Given the description of an element on the screen output the (x, y) to click on. 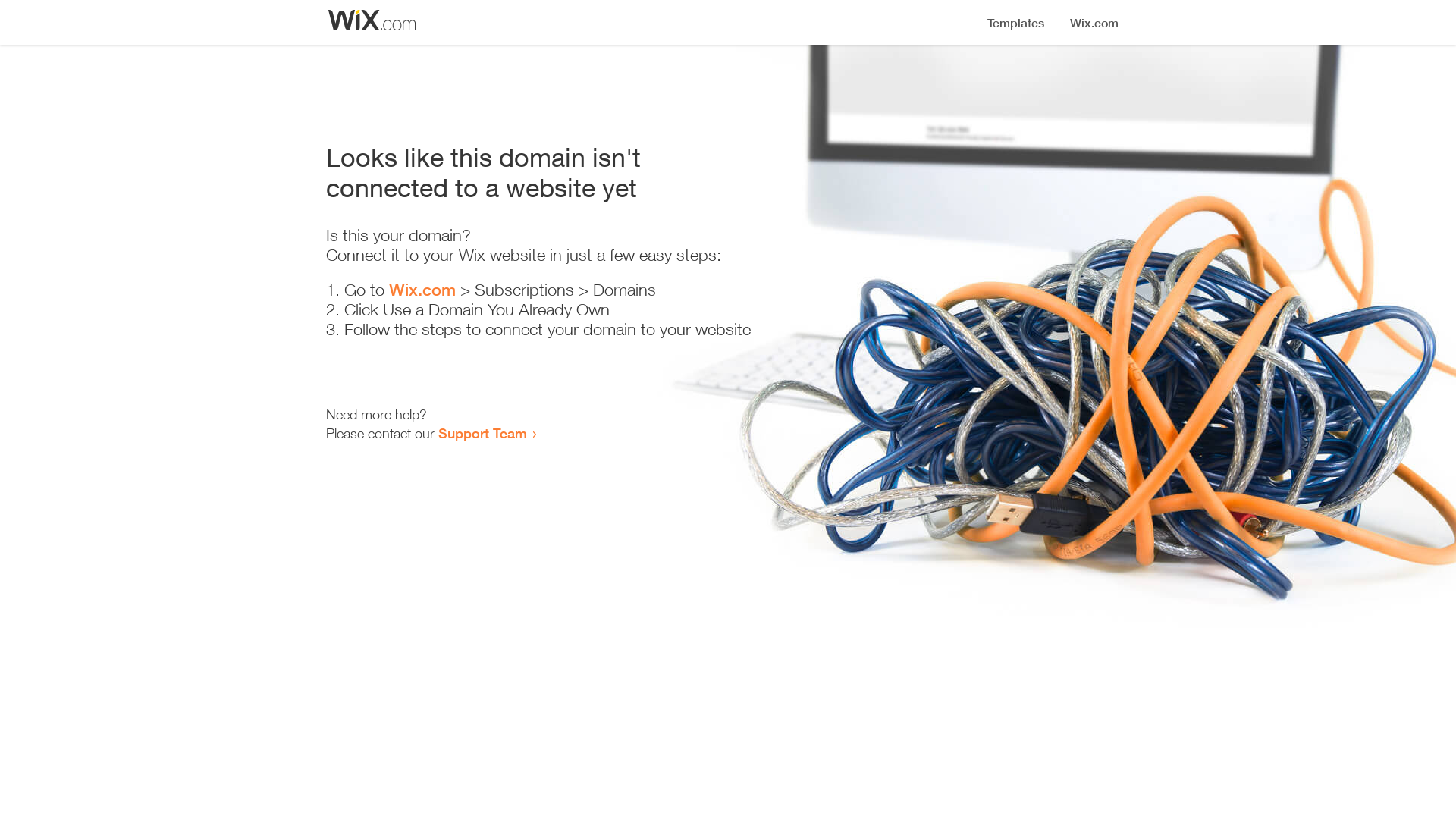
Wix.com Element type: text (422, 289)
Support Team Element type: text (482, 432)
